Given the description of an element on the screen output the (x, y) to click on. 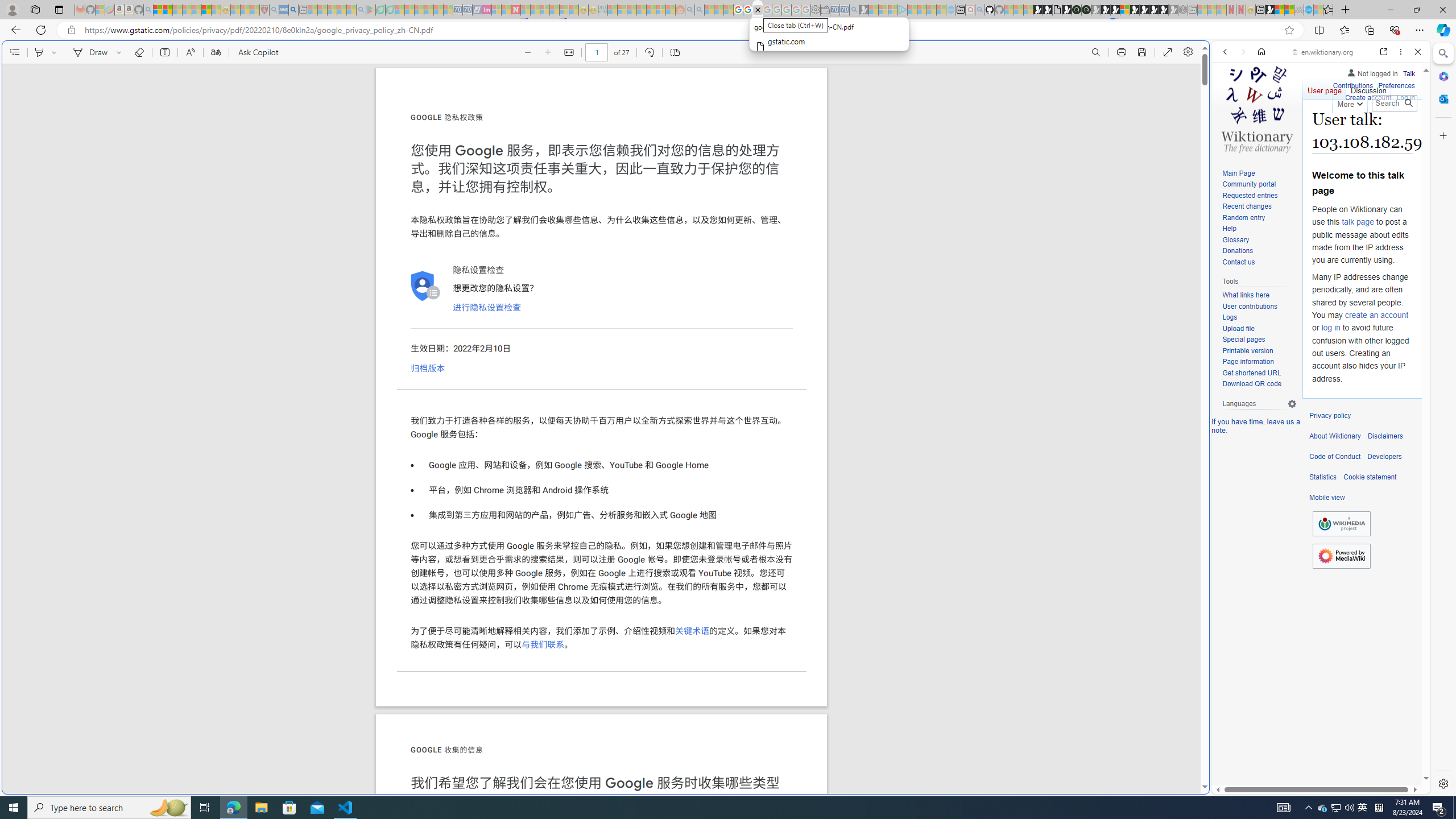
Draw (88, 52)
AutomationID: footer-poweredbyico (1341, 555)
Language settings (1292, 403)
Actions for this site (1370, 583)
Tabs you've opened (885, 151)
Page view (674, 52)
Expert Portfolios - Sleeping (640, 9)
Contact us (1238, 261)
Close Outlook pane (1442, 98)
Mobile view (1326, 497)
Jobs - lastminute.com Investor Portal - Sleeping (486, 9)
